Given the description of an element on the screen output the (x, y) to click on. 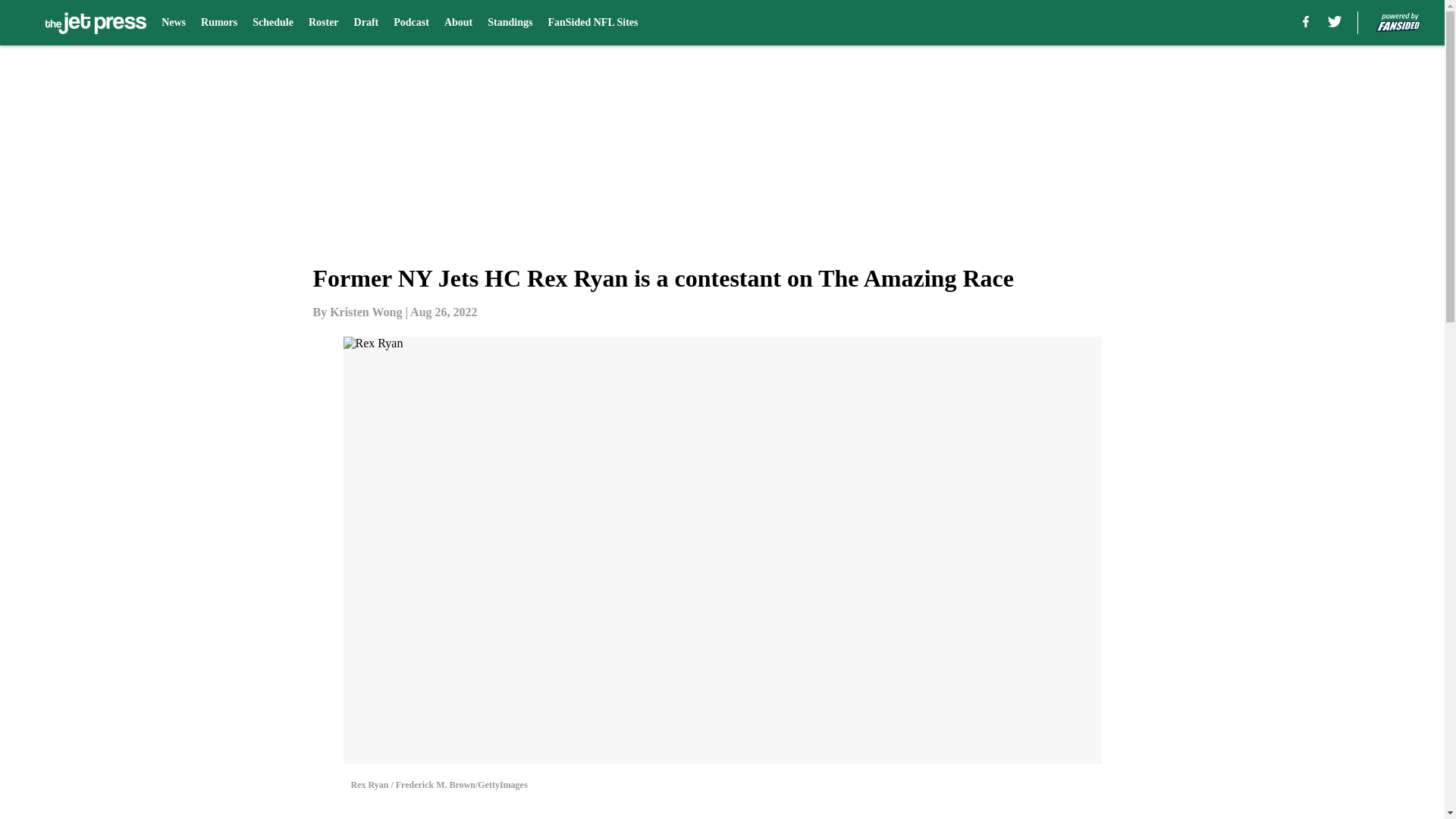
Draft (365, 22)
Schedule (272, 22)
News (173, 22)
FanSided NFL Sites (592, 22)
About (457, 22)
Rumors (218, 22)
Roster (323, 22)
Podcast (411, 22)
Standings (509, 22)
